Given the description of an element on the screen output the (x, y) to click on. 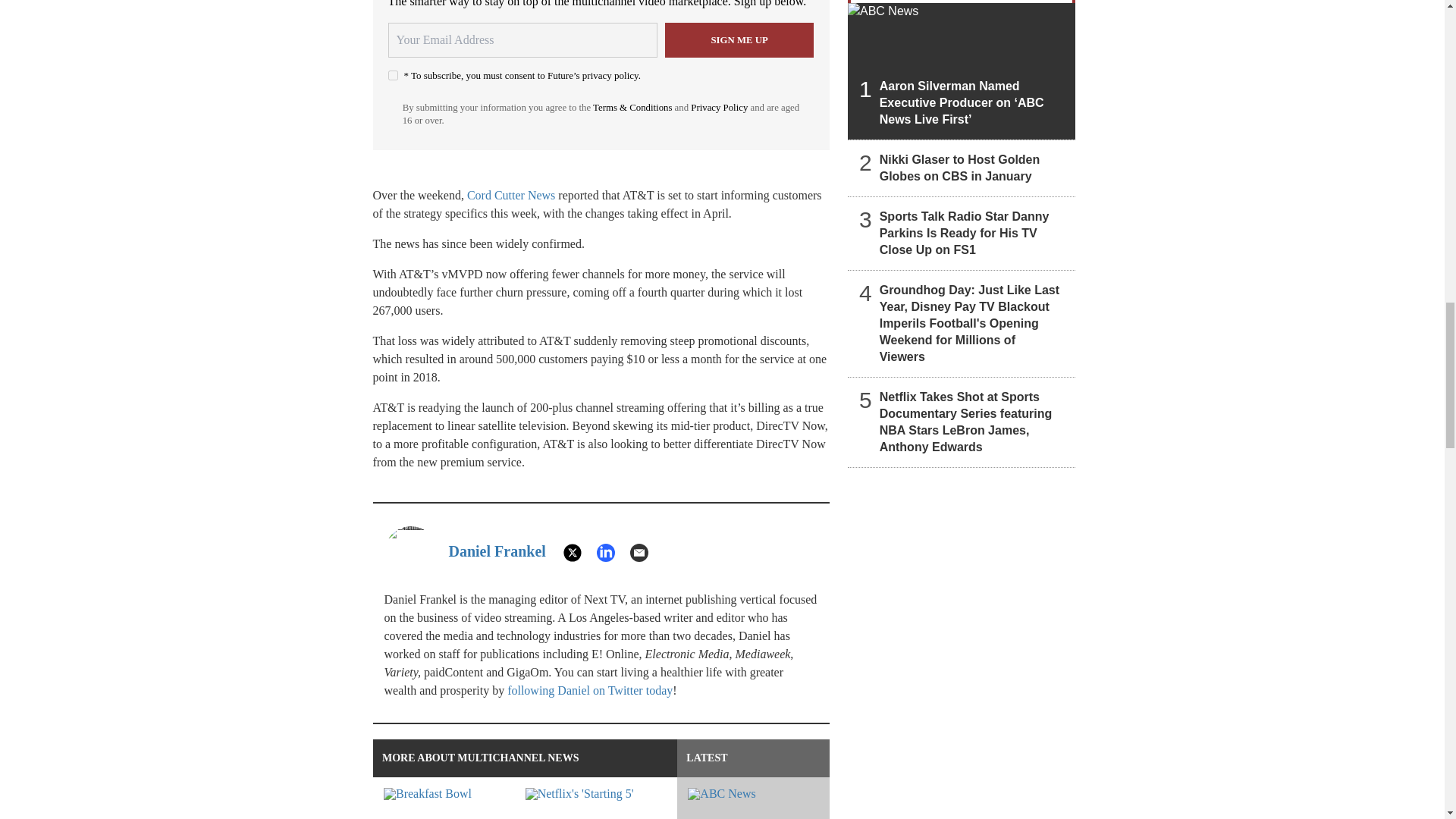
Privacy Policy (719, 107)
Sign me up (739, 39)
Sign me up (739, 39)
on (392, 75)
